Given the description of an element on the screen output the (x, y) to click on. 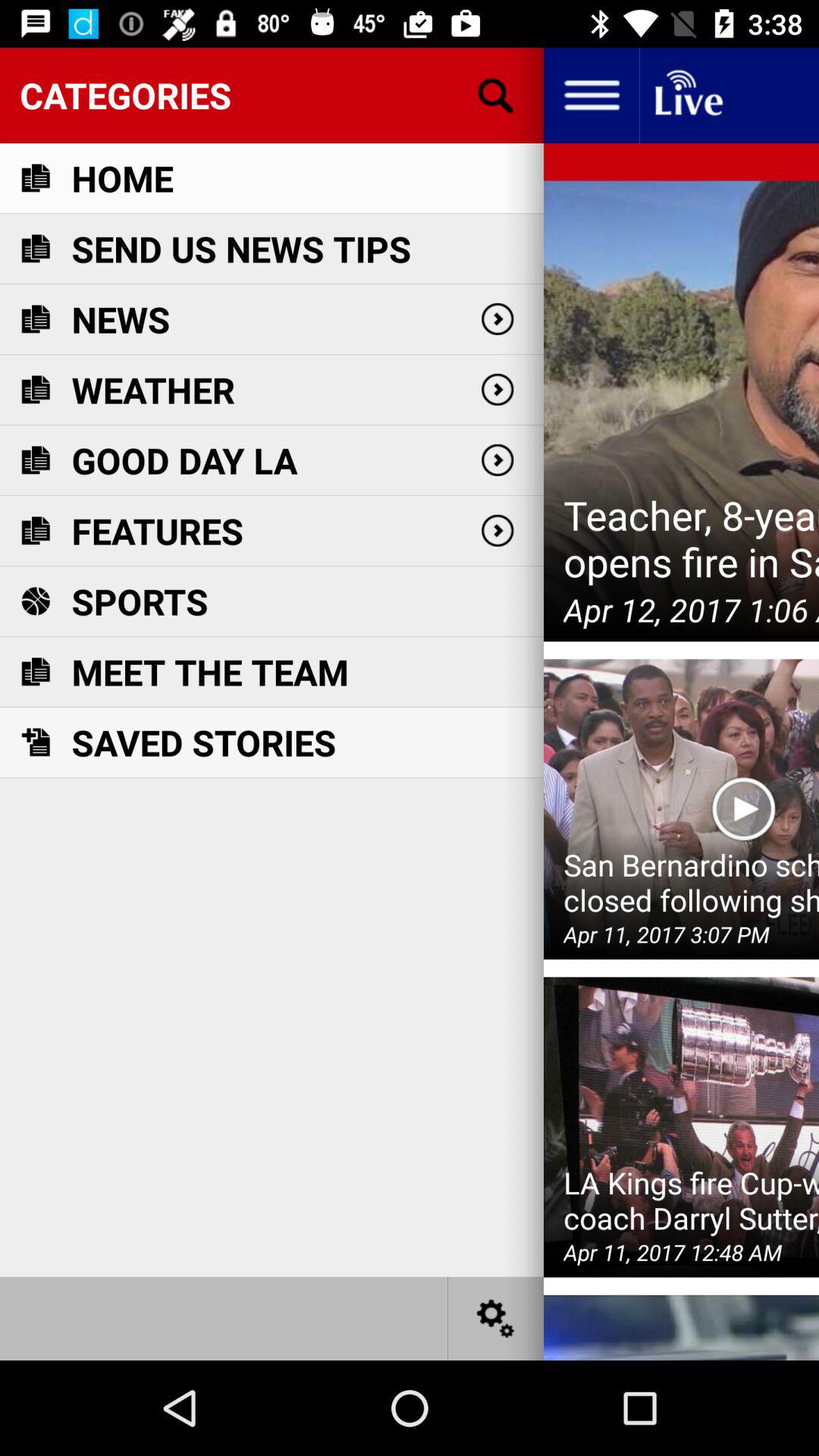
open menu (591, 95)
